Given the description of an element on the screen output the (x, y) to click on. 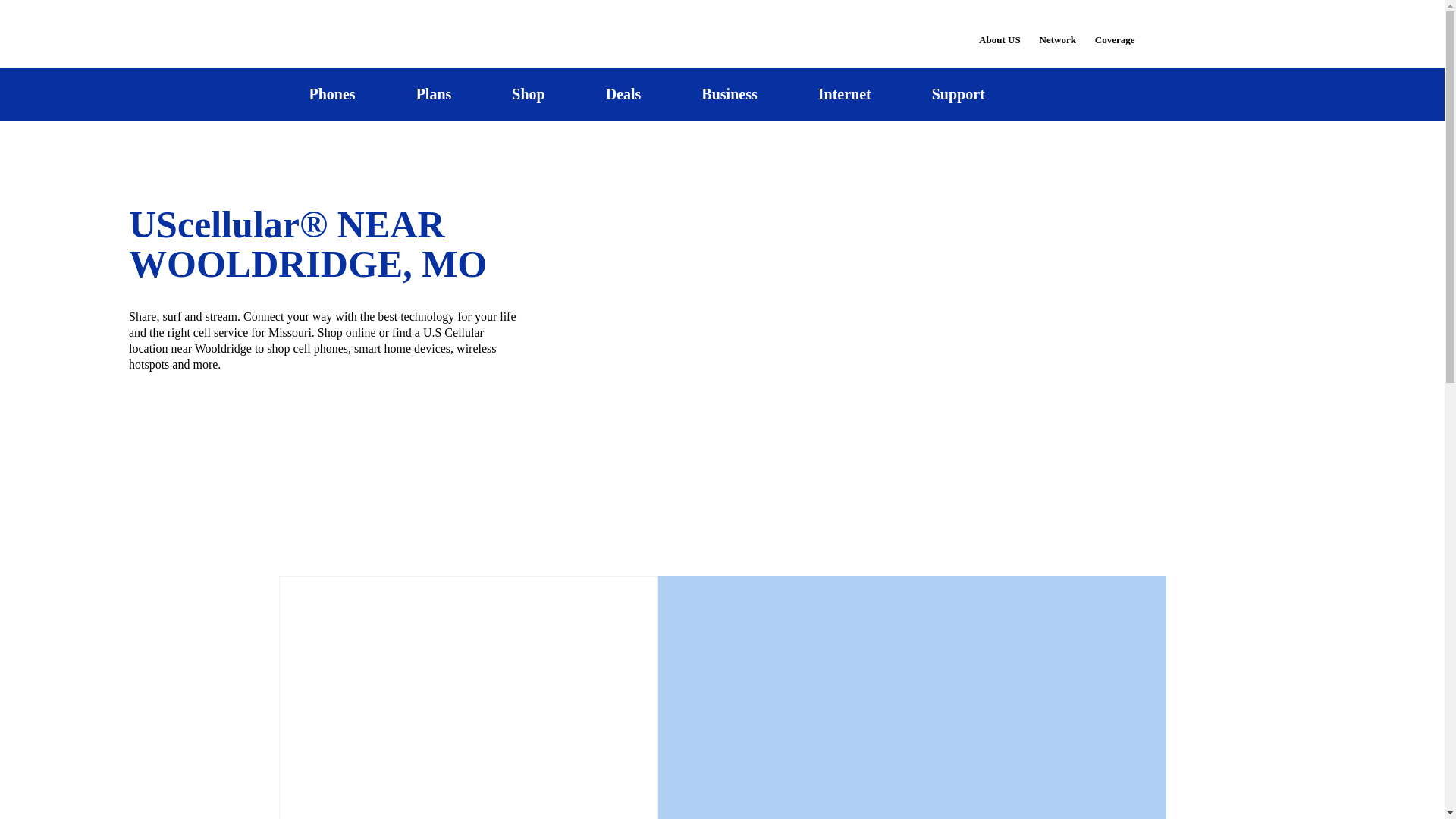
Coverage (1115, 29)
Phones (332, 94)
Business (729, 94)
About US (999, 30)
Network (1057, 30)
Support (957, 94)
Internet (844, 94)
Shop (528, 94)
Plans (433, 94)
Deals (623, 94)
